Given the description of an element on the screen output the (x, y) to click on. 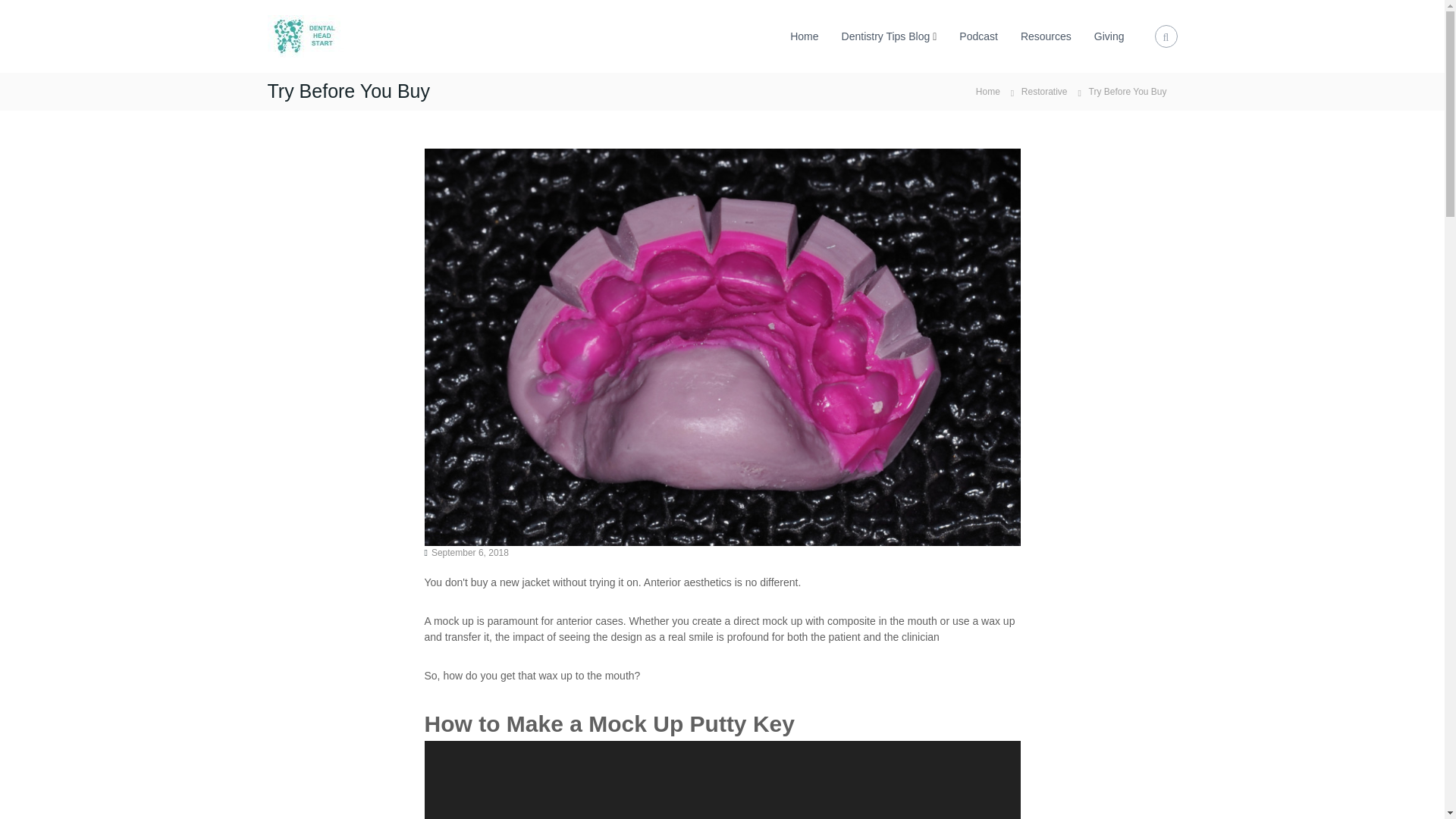
Home (804, 36)
Home (987, 91)
Podcast (978, 36)
September 6, 2018 (469, 552)
Home (987, 91)
Dentistry Tips Blog (885, 36)
Resources (1045, 36)
Giving (1109, 36)
Restorative (1044, 91)
